Given the description of an element on the screen output the (x, y) to click on. 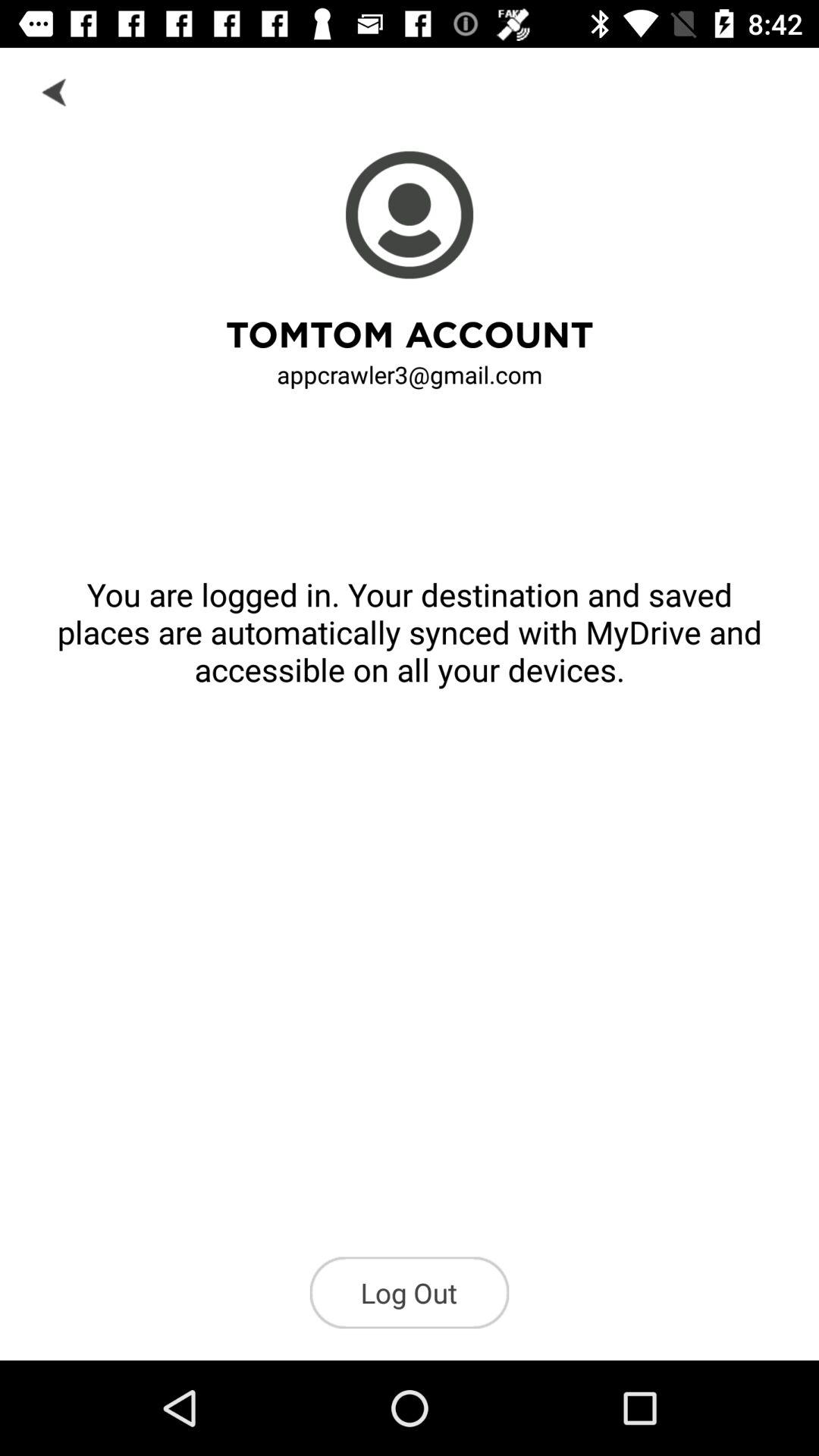
click the log out item (409, 1292)
